Given the description of an element on the screen output the (x, y) to click on. 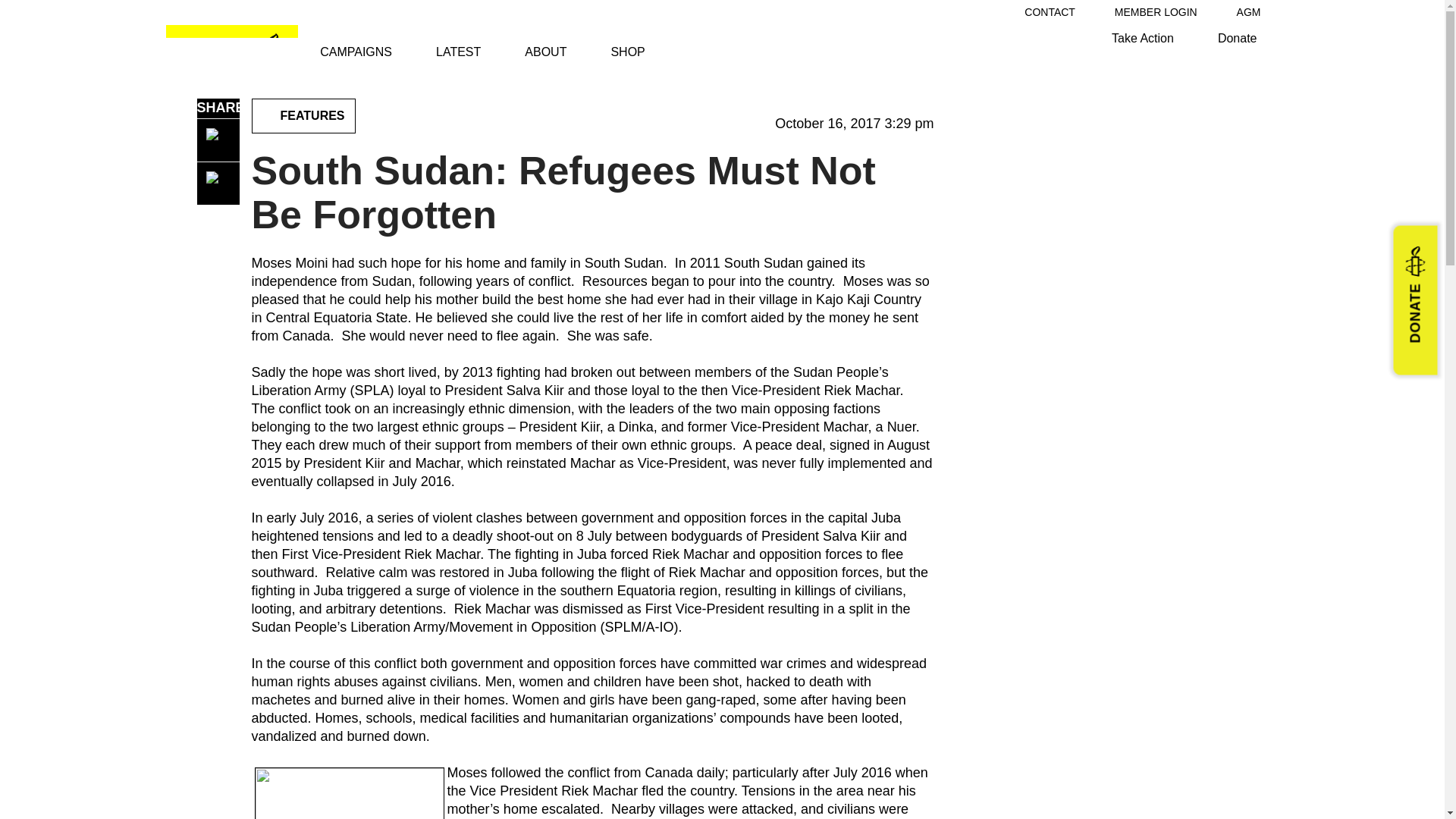
MEMBER LOGIN (1155, 11)
CONTACT (1050, 11)
Donate (1237, 38)
AGM (1248, 11)
Share on Facebook (218, 139)
ABOUT (545, 52)
LATEST (457, 52)
CAMPAIGNS (355, 52)
Share on Twitter (218, 183)
